Given the description of an element on the screen output the (x, y) to click on. 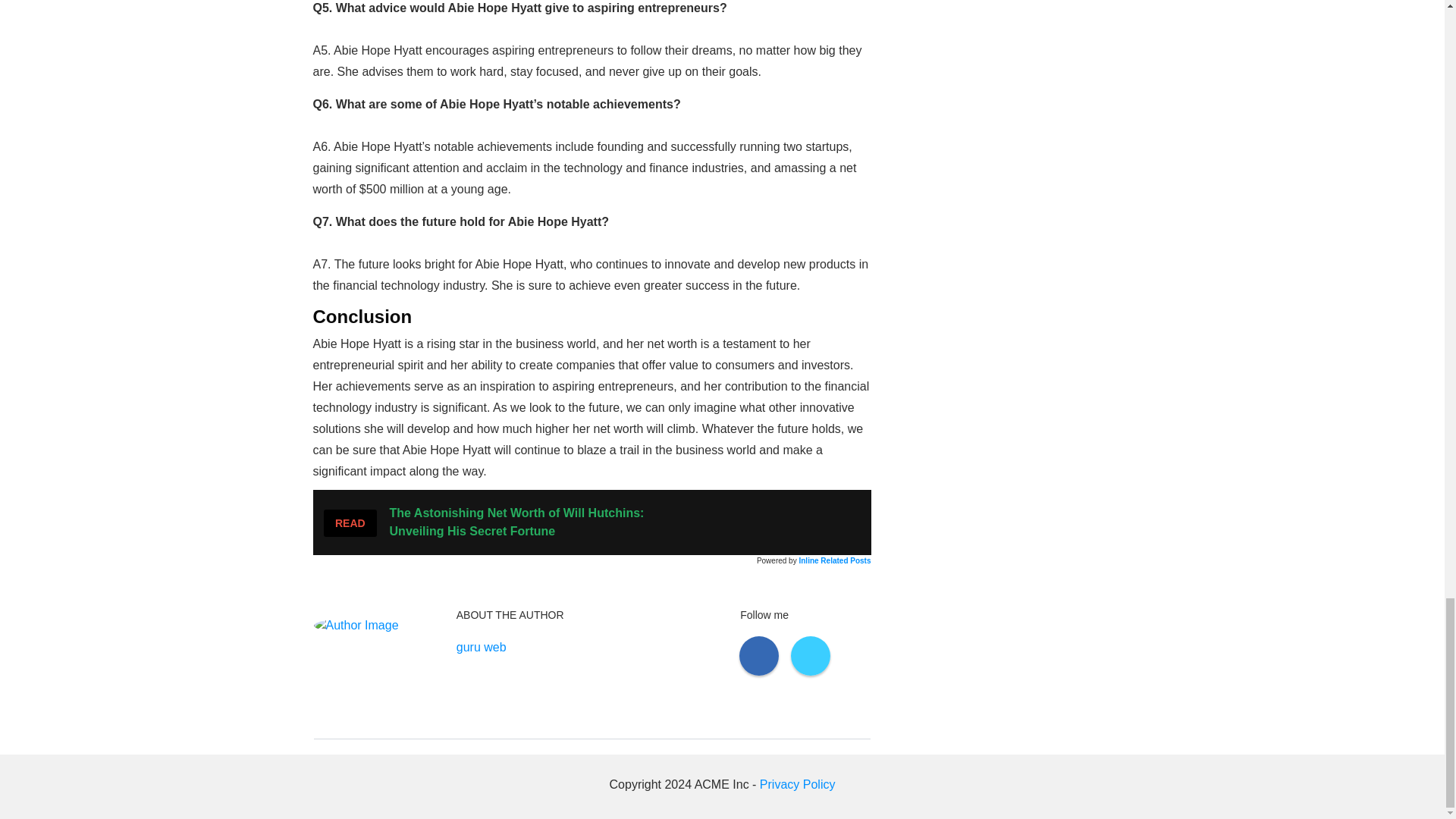
Privacy Policy (797, 784)
Inline Related Posts (833, 560)
guru web (481, 647)
